Given the description of an element on the screen output the (x, y) to click on. 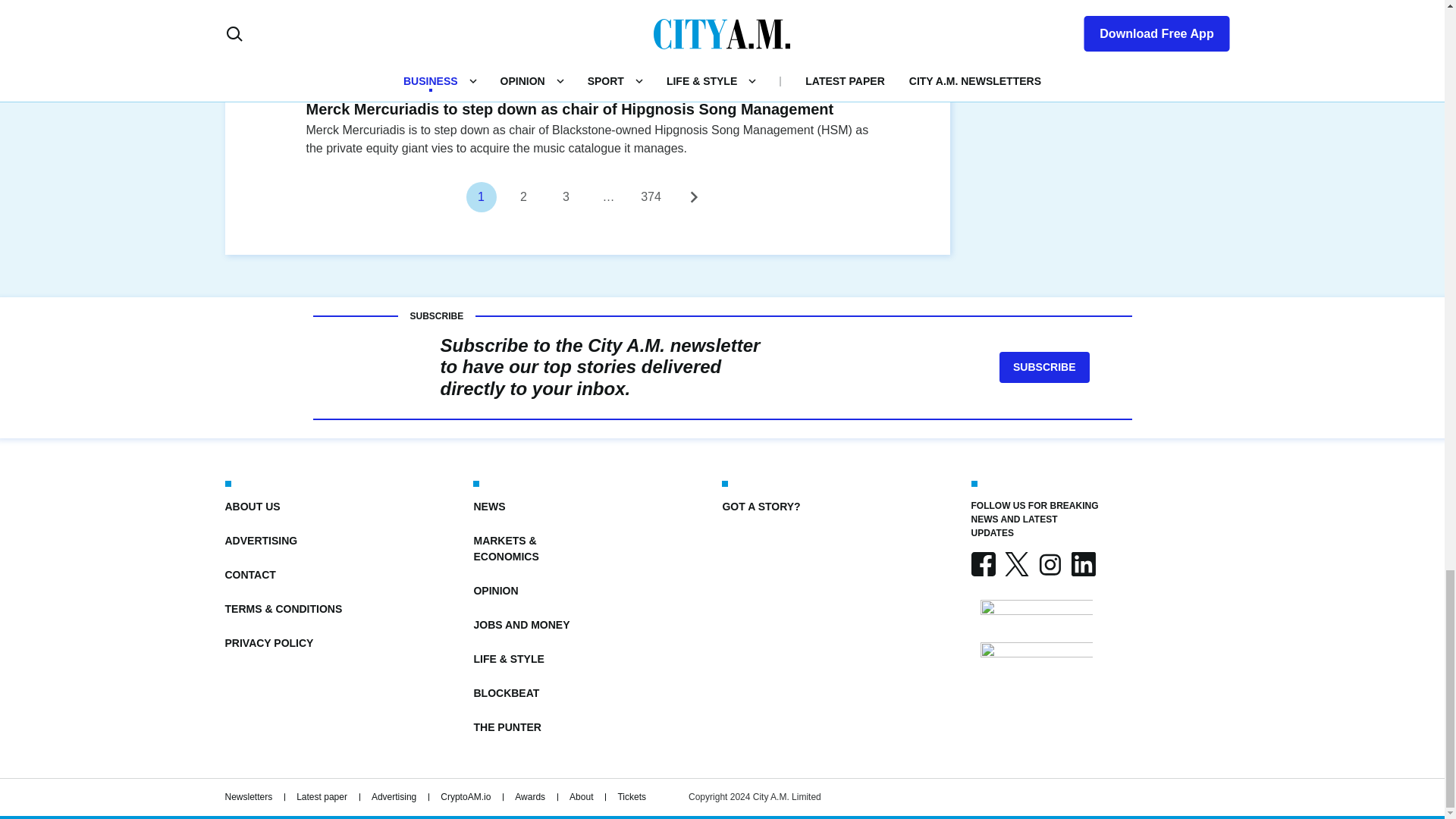
INSTAGRAM (1048, 564)
LINKEDIN (1082, 564)
FACEBOOK (982, 564)
X (1015, 564)
